Given the description of an element on the screen output the (x, y) to click on. 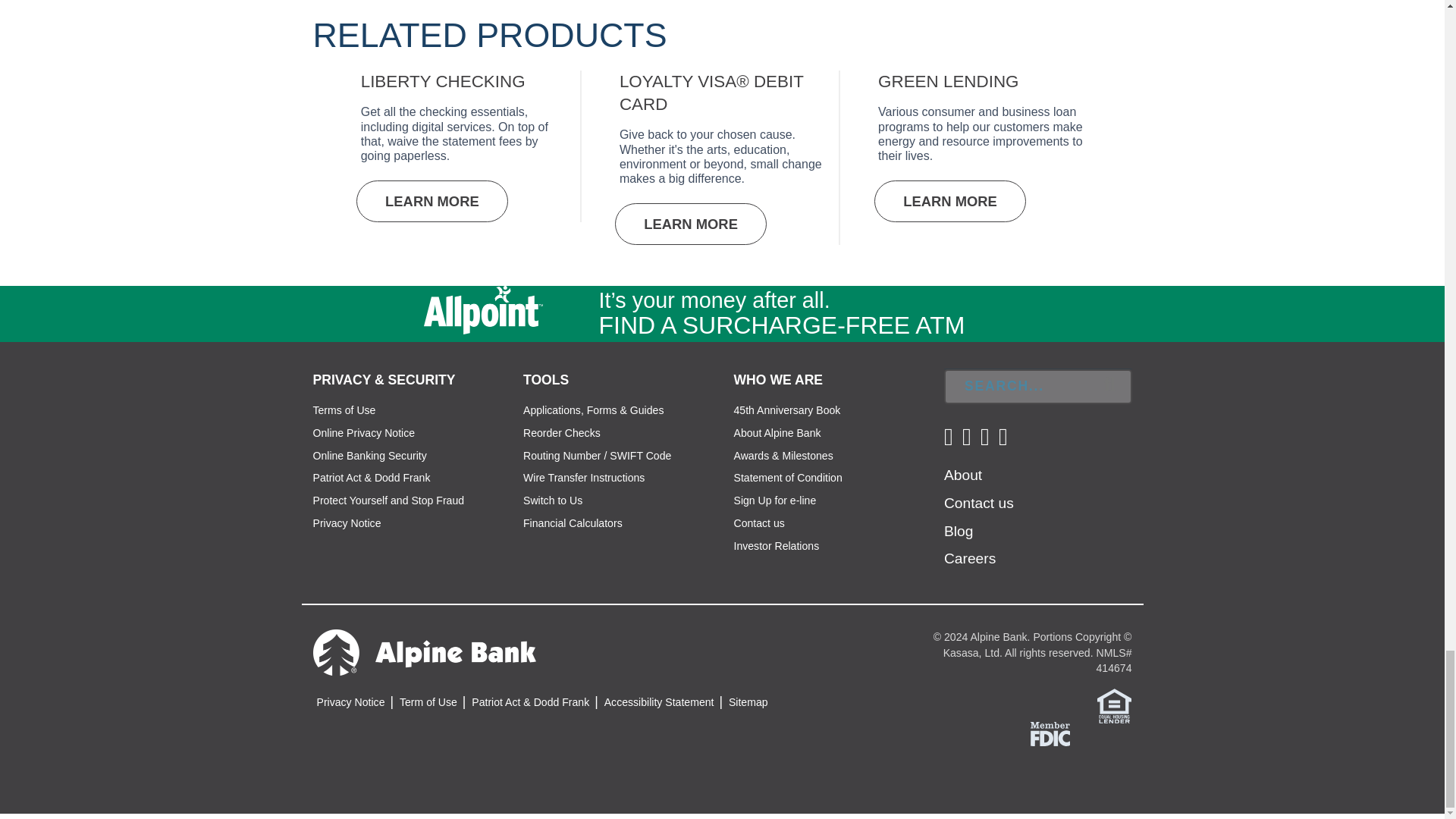
POWERED BY FIRSTBRANCH (959, 778)
MEMBER FDIC (1050, 733)
EQUAL HOUSING LENDER (1114, 705)
Search... (1037, 386)
